Given the description of an element on the screen output the (x, y) to click on. 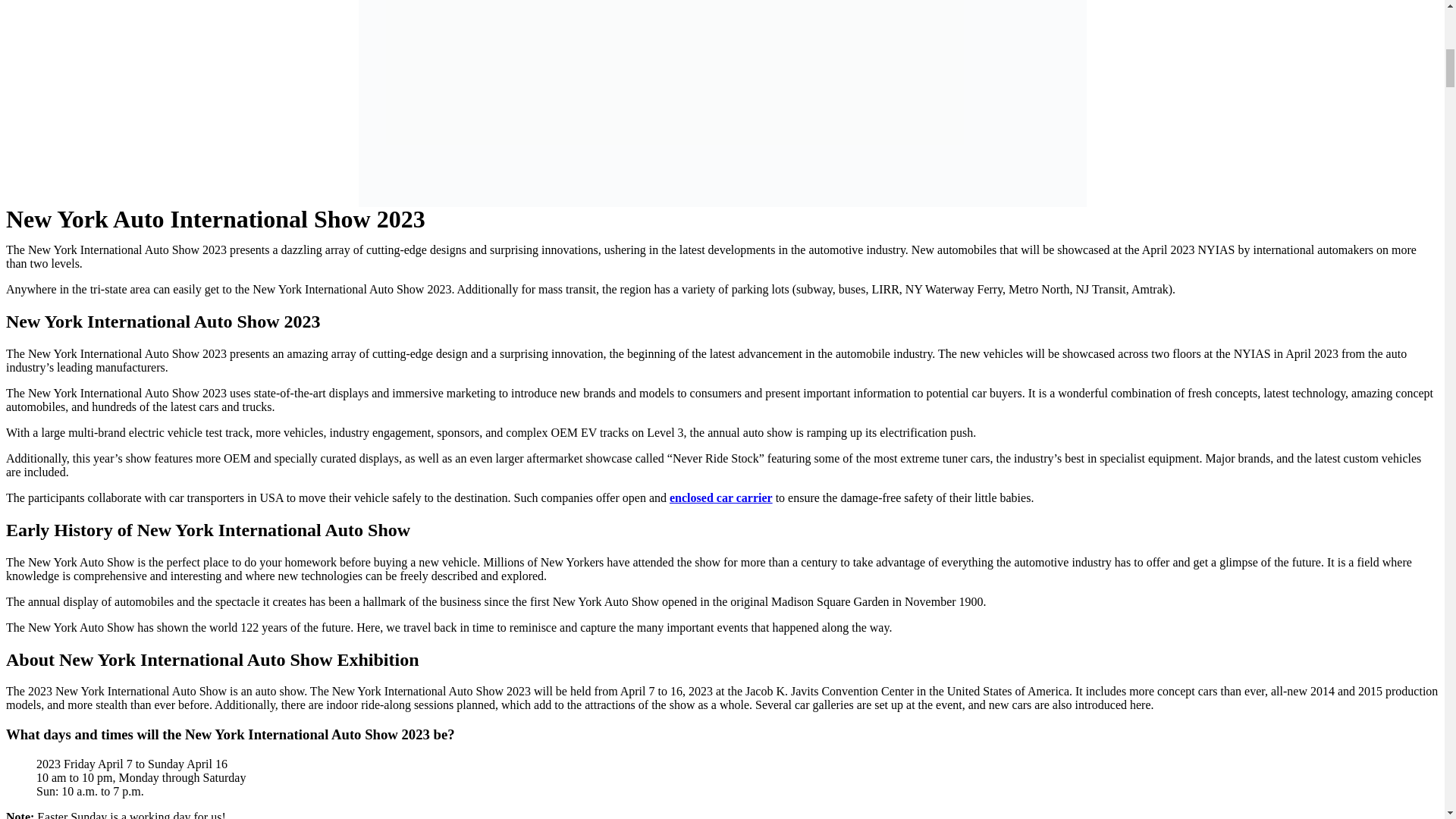
enclosed car carrier (721, 497)
